Given the description of an element on the screen output the (x, y) to click on. 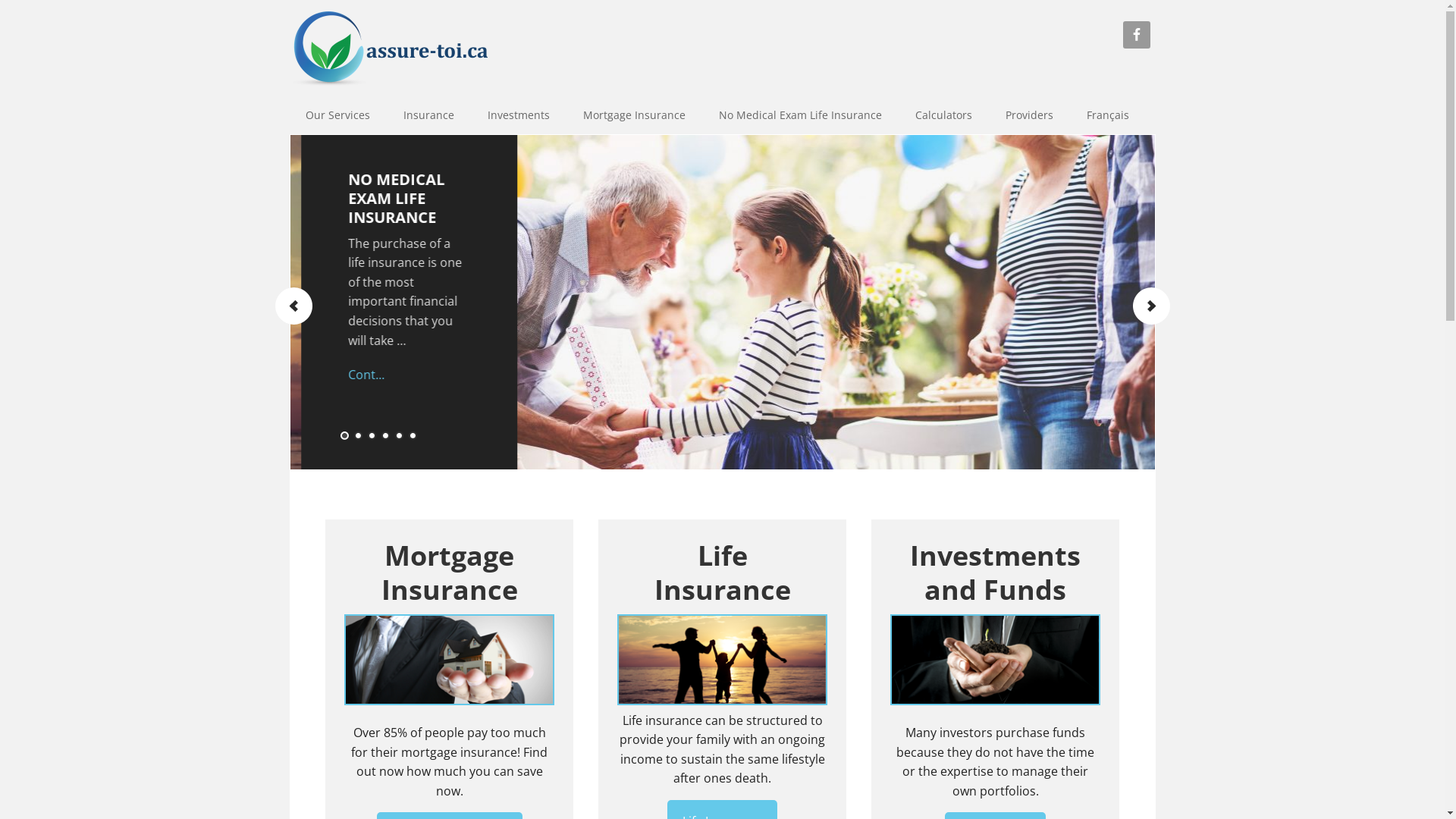
Cont... Element type: text (397, 356)
3 Element type: text (371, 436)
Our Services Element type: text (336, 114)
Investments Element type: text (517, 114)
No Medical Exam Life Insurance Element type: text (800, 114)
Mortgage Insurance Element type: text (633, 114)
6 Element type: text (412, 436)
2 Element type: text (358, 436)
5 Element type: text (399, 436)
Next Element type: text (1150, 304)
1 Element type: text (344, 436)
LIFE INSURANCE Element type: text (381, 188)
Providers Element type: text (1029, 114)
Insurance Element type: text (428, 114)
4 Element type: text (385, 436)
Previous Element type: text (293, 304)
Calculators Element type: text (942, 114)
